Given the description of an element on the screen output the (x, y) to click on. 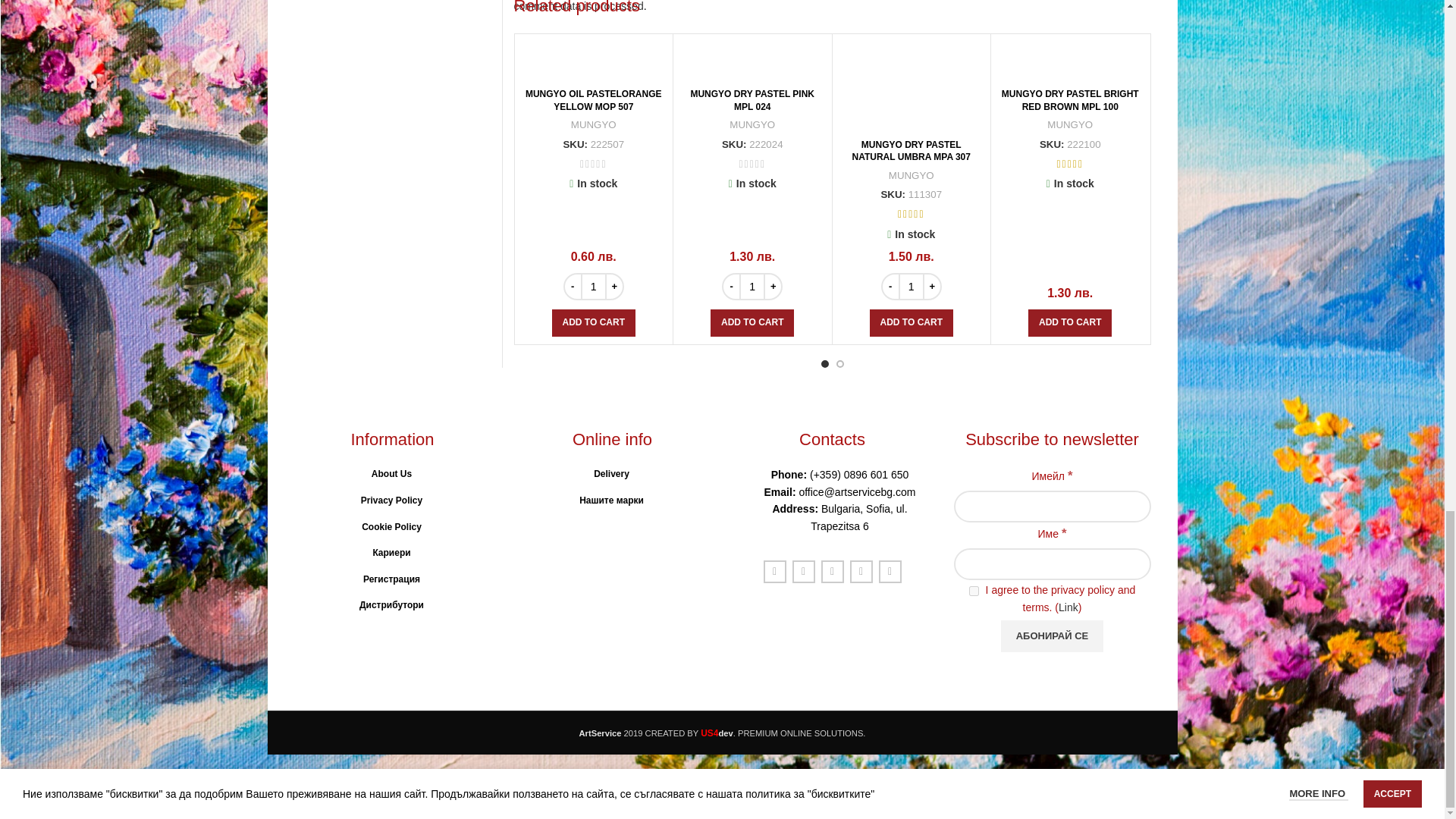
1 (973, 591)
